Given the description of an element on the screen output the (x, y) to click on. 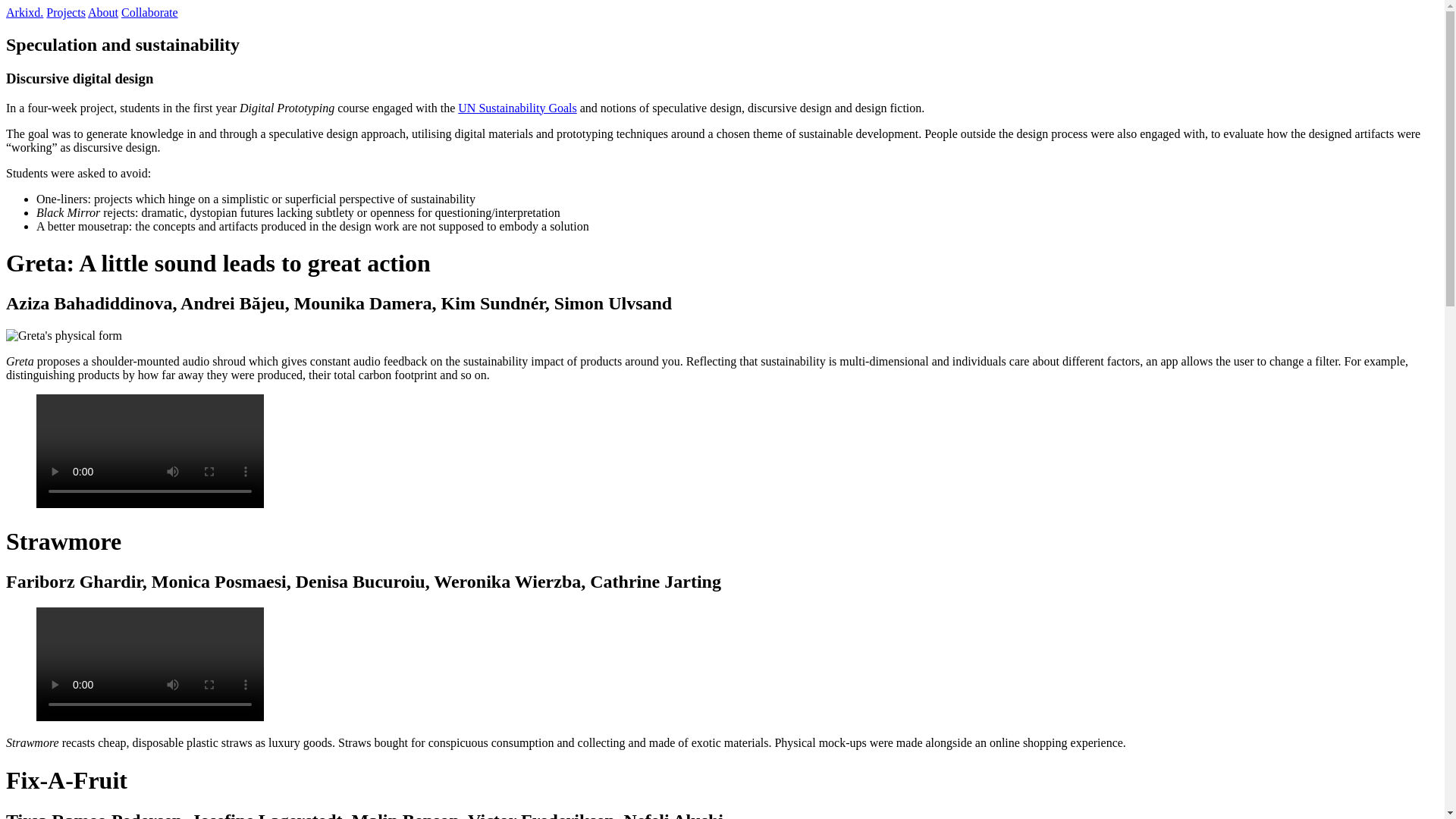
Projects from the programme (65, 11)
Collaborate (148, 11)
Collaborate with students and faculty (148, 11)
Arkixd. (24, 11)
About the programme (102, 11)
About (102, 11)
UN Sustainability Goals (517, 107)
Greta's physical form (63, 336)
Projects (65, 11)
